Given the description of an element on the screen output the (x, y) to click on. 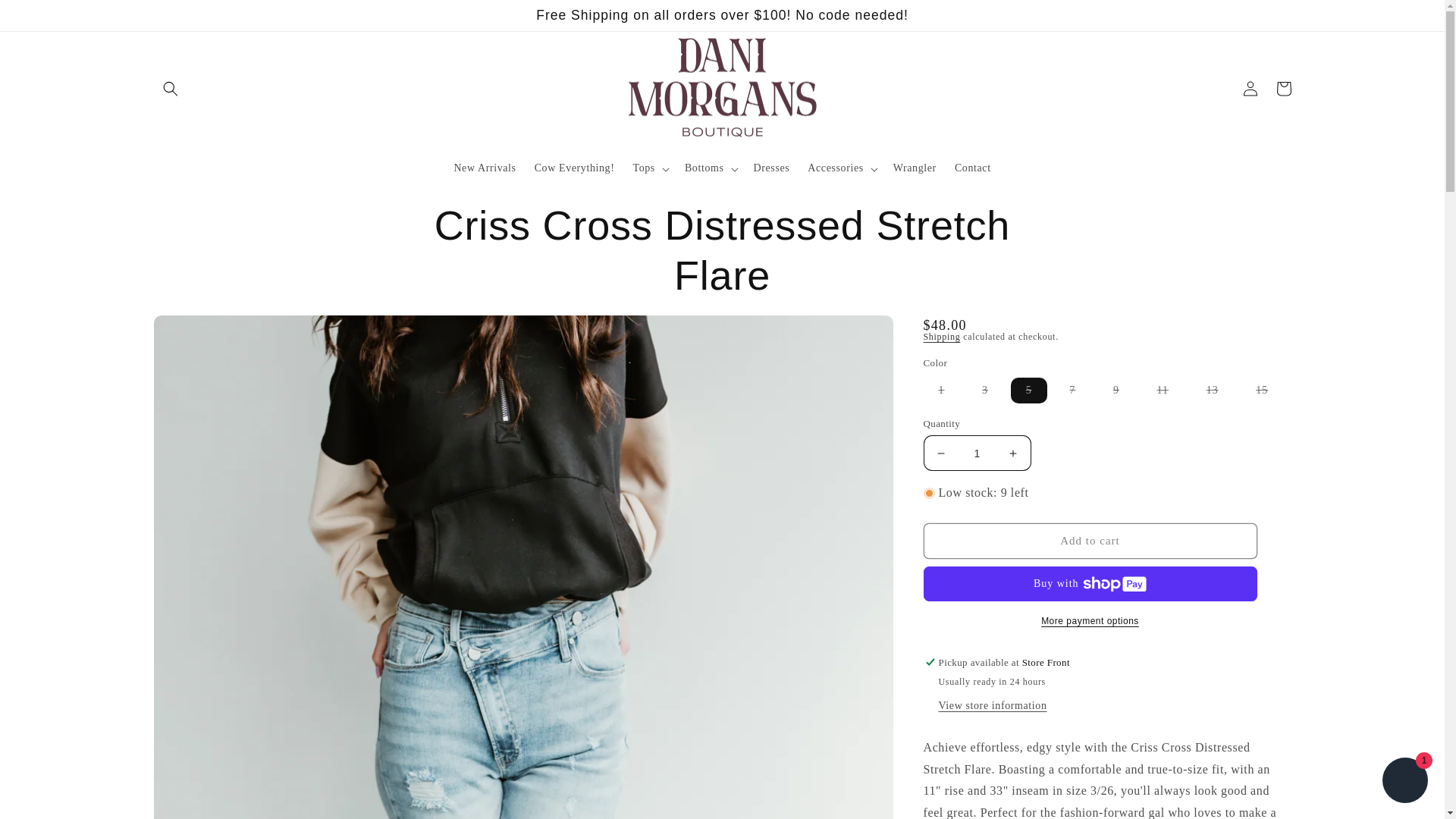
Shopify online store chat (1404, 781)
1 (976, 452)
Skip to content (45, 17)
